Given the description of an element on the screen output the (x, y) to click on. 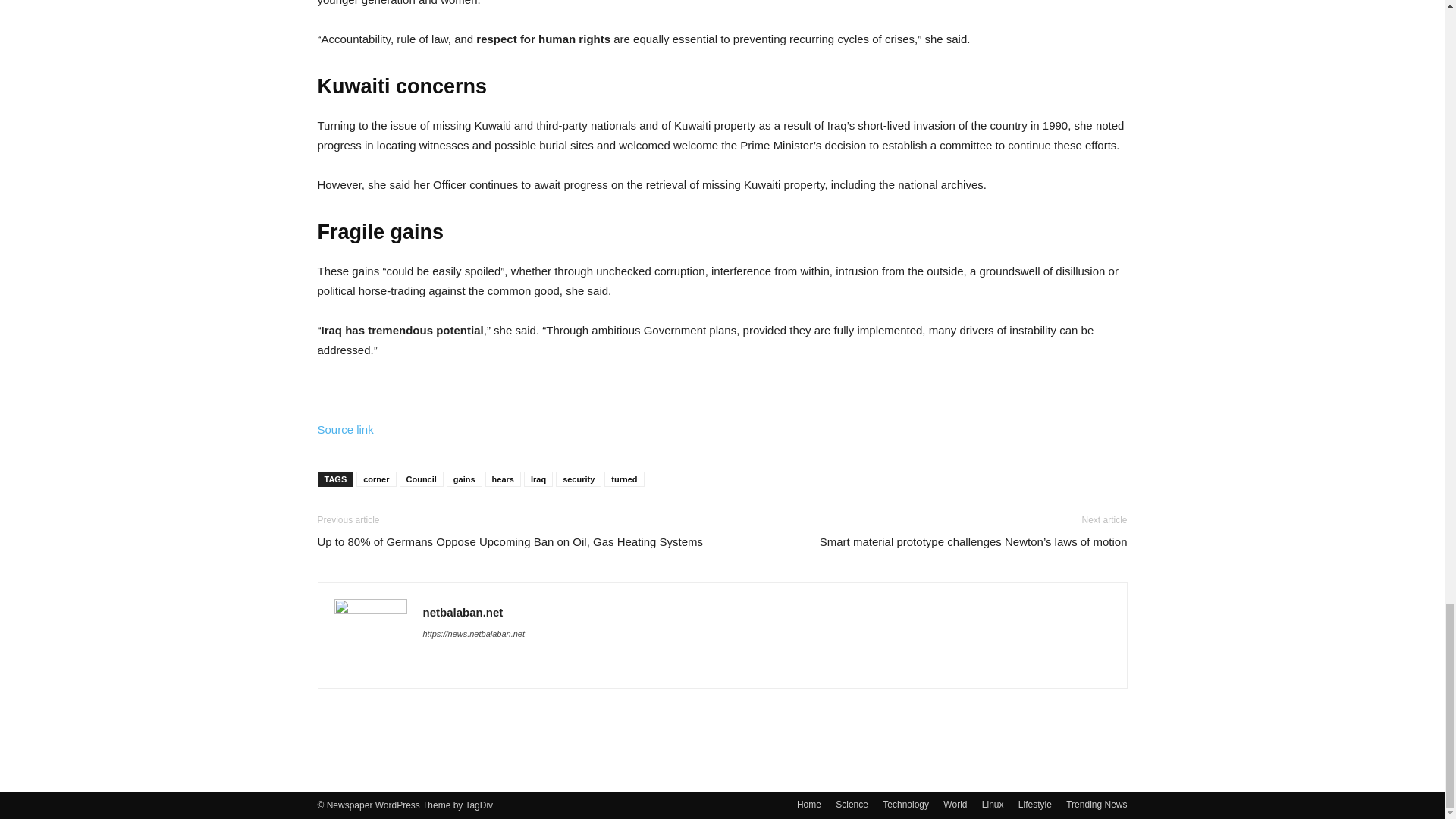
Iraq (538, 478)
Council (420, 478)
corner (376, 478)
turned (623, 478)
gains (463, 478)
Source link (344, 429)
hears (502, 478)
security (578, 478)
